Given the description of an element on the screen output the (x, y) to click on. 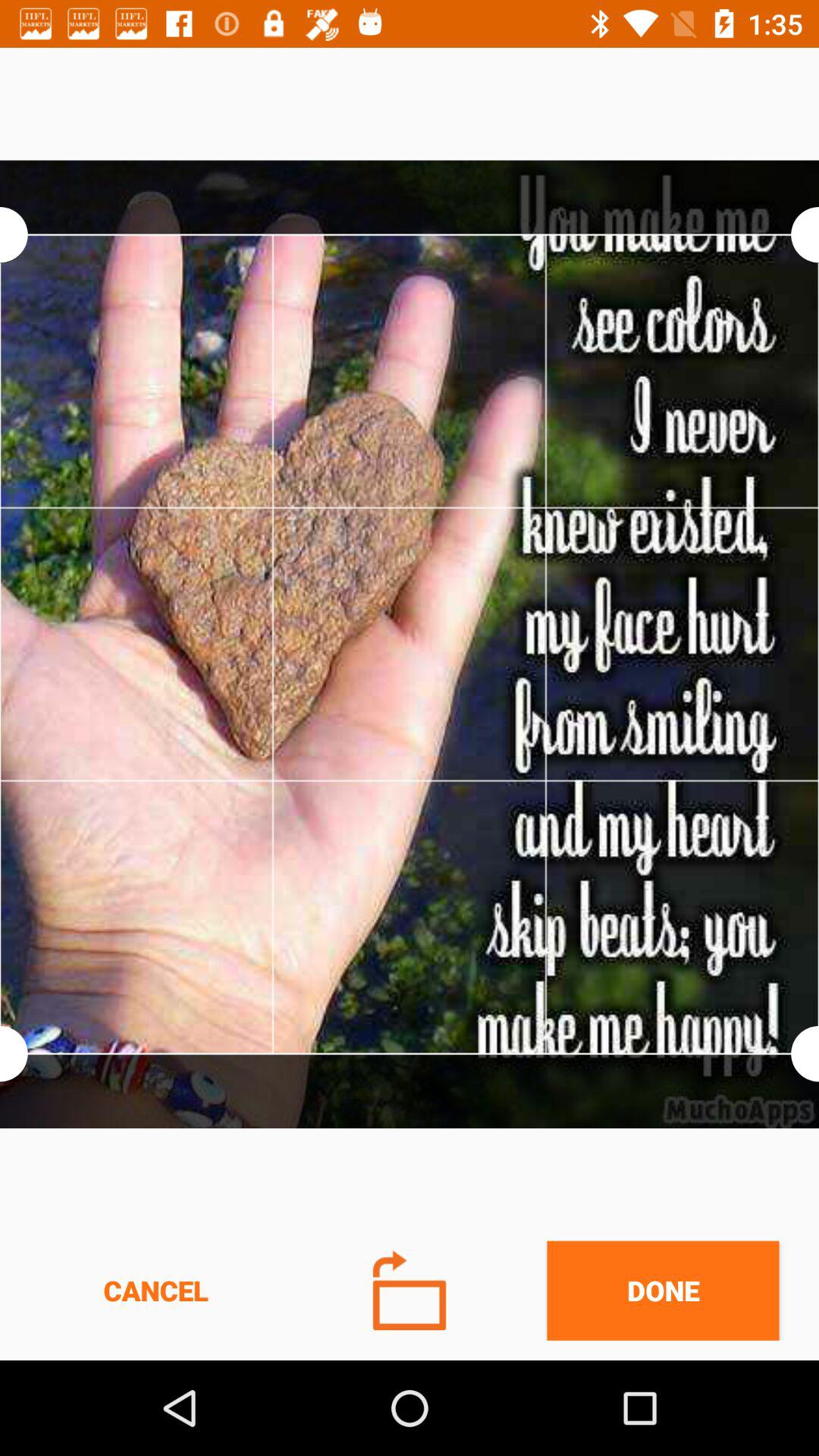
choose done icon (663, 1290)
